Given the description of an element on the screen output the (x, y) to click on. 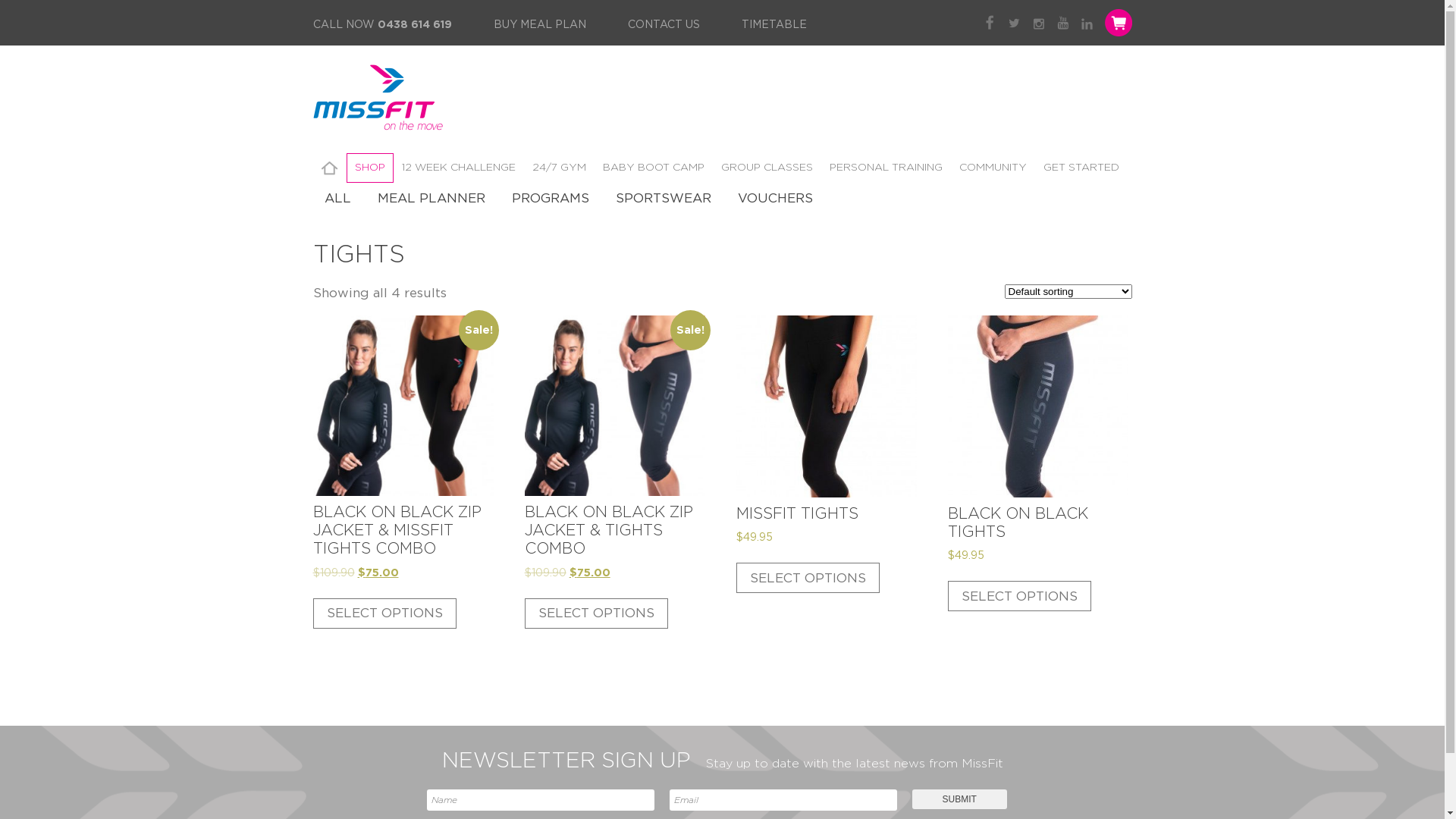
LinkedIn Element type: text (1086, 22)
TIMETABLE Element type: text (773, 24)
SELECT OPTIONS Element type: text (383, 613)
SELECT OPTIONS Element type: text (596, 613)
SELECT OPTIONS Element type: text (1019, 595)
COMMUNITY Element type: text (992, 167)
MEAL PLANNER Element type: text (430, 198)
Facebook Element type: text (989, 22)
Instagram Element type: text (1038, 22)
VOUCHERS Element type: text (775, 198)
SELECT OPTIONS Element type: text (807, 577)
Shopping Cart Element type: text (1116, 22)
ALL Element type: text (336, 198)
Twitter Element type: text (1014, 22)
Submit Element type: text (958, 799)
GET STARTED Element type: text (1080, 167)
24/7 GYM Element type: text (558, 167)
CALL NOW 0438 614 619 Element type: text (381, 24)
BABY BOOT CAMP Element type: text (653, 167)
12 WEEK CHALLENGE Element type: text (457, 167)
BLACK ON BLACK TIGHTS
$49.95 Element type: text (1037, 458)
GROUP CLASSES Element type: text (766, 167)
MISSFIT TIGHTS
$49.95 Element type: text (826, 449)
SHOP Element type: text (368, 167)
YouTube Element type: text (1062, 22)
CONTACT US Element type: text (663, 24)
PROGRAMS Element type: text (550, 198)
HOME Element type: text (328, 167)
SPORTSWEAR Element type: text (662, 198)
PERSONAL TRAINING Element type: text (885, 167)
BUY MEAL PLAN Element type: text (538, 24)
